Given the description of an element on the screen output the (x, y) to click on. 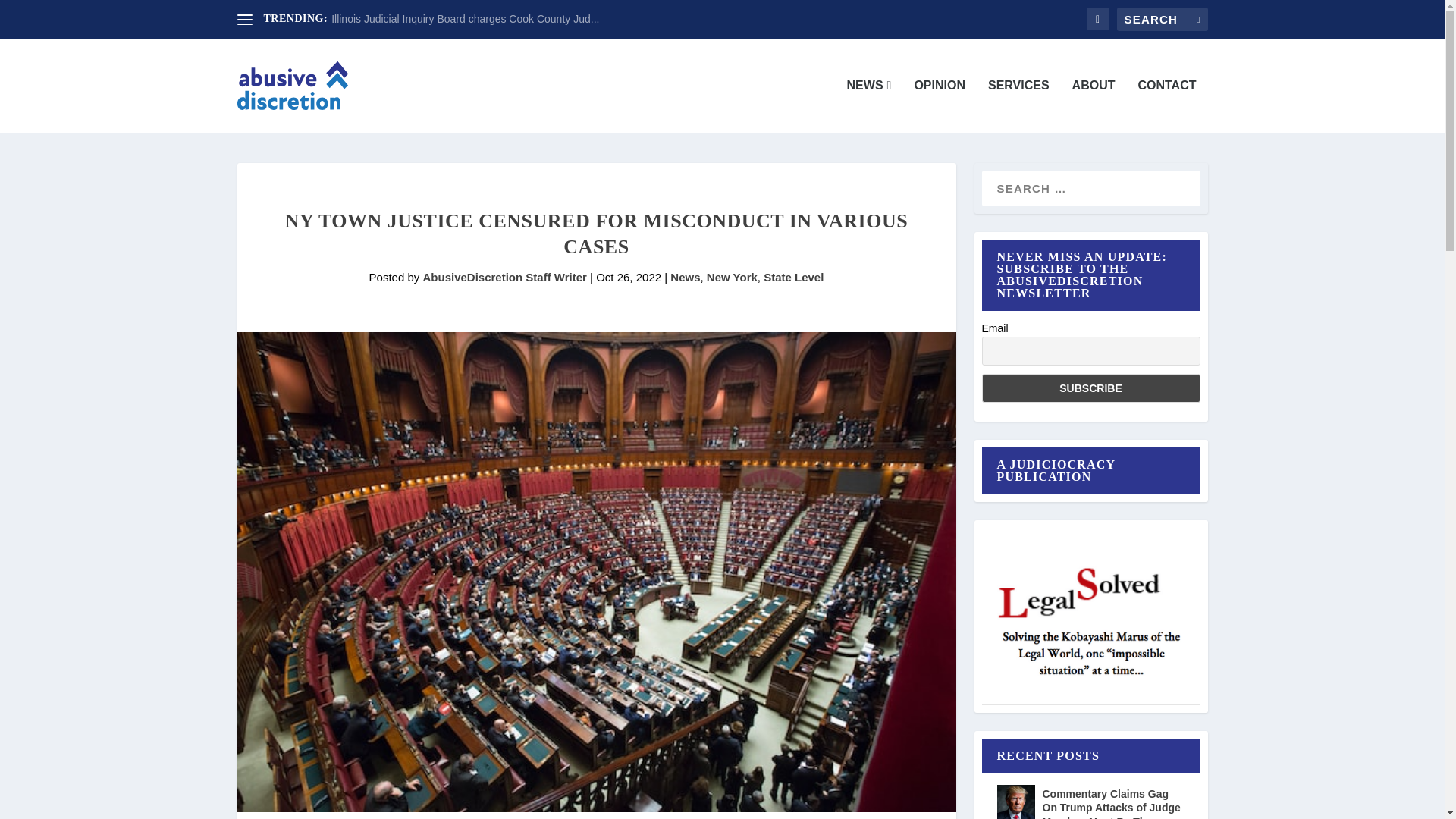
New York (731, 277)
Posts by AbusiveDiscretion Staff Writer (504, 277)
AbusiveDiscretion Staff Writer (504, 277)
Illinois Judicial Inquiry Board charges Cook County Jud... (464, 19)
SERVICES (1018, 105)
State Level (793, 277)
CONTACT (1166, 105)
News (684, 277)
Subscribe (1090, 387)
OPINION (939, 105)
